Given the description of an element on the screen output the (x, y) to click on. 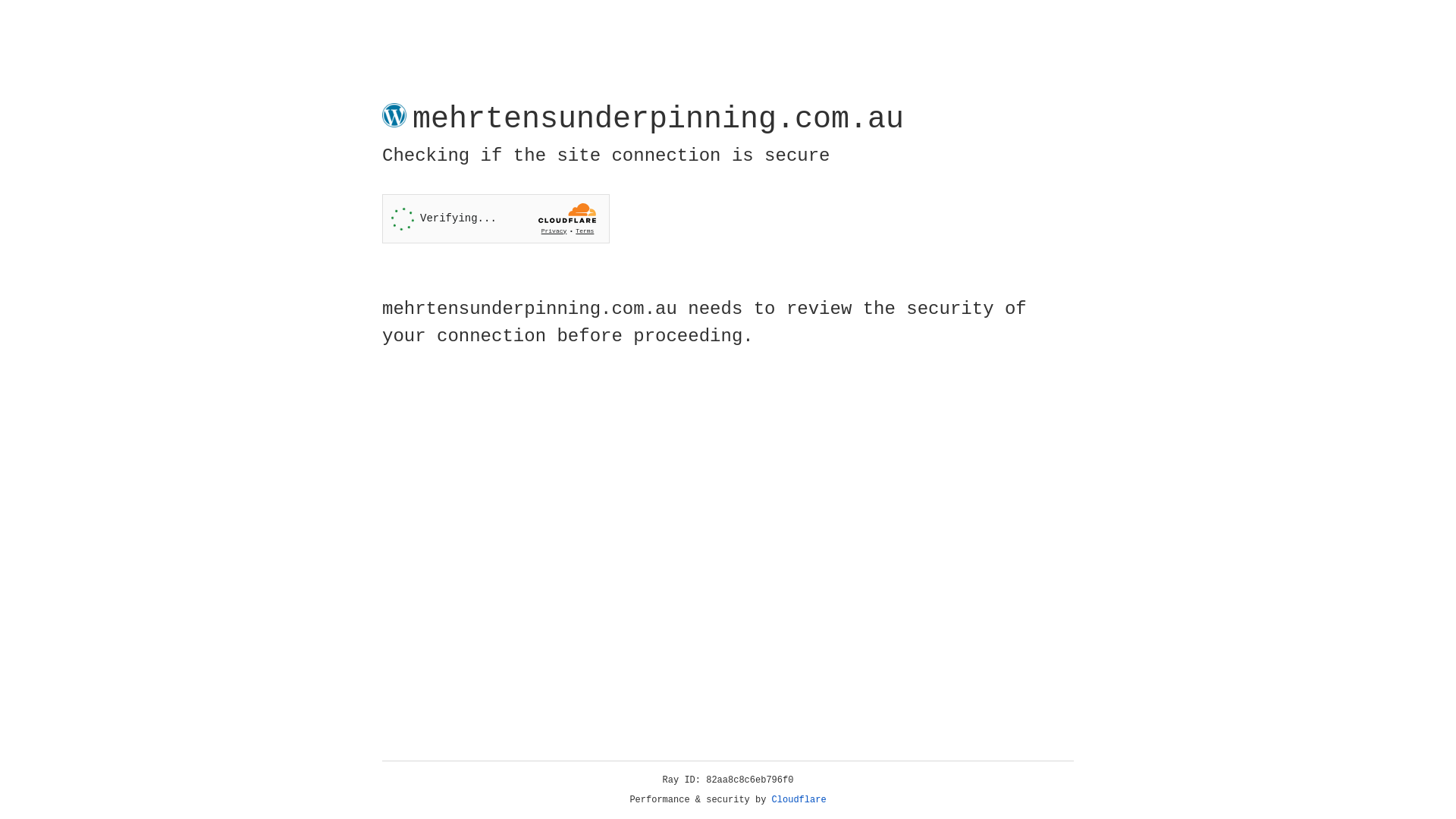
Cloudflare Element type: text (798, 799)
Widget containing a Cloudflare security challenge Element type: hover (495, 218)
